Given the description of an element on the screen output the (x, y) to click on. 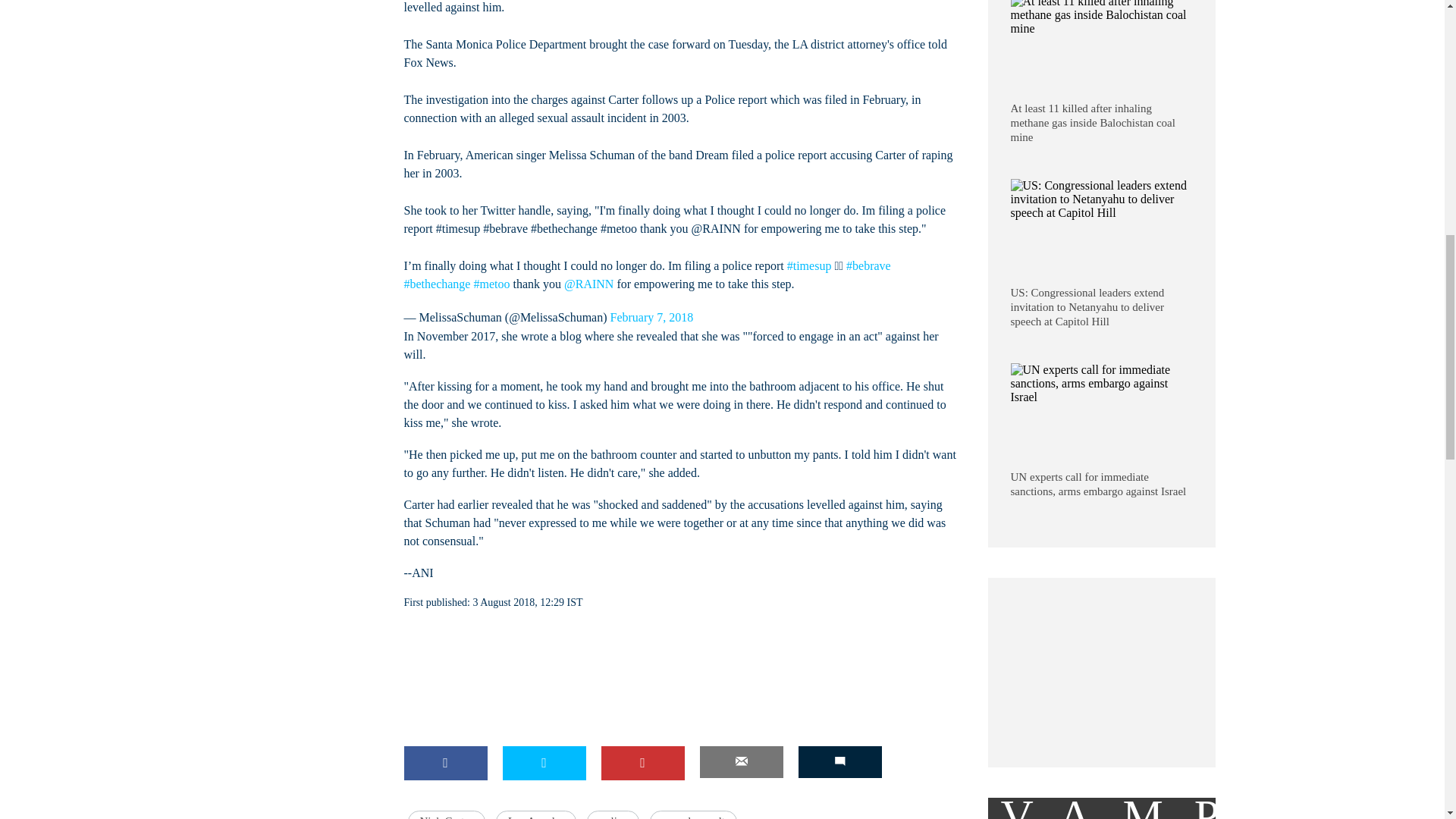
Los Angeles (536, 814)
Nick Carter (445, 814)
police (612, 814)
sexual assault (692, 814)
